Given the description of an element on the screen output the (x, y) to click on. 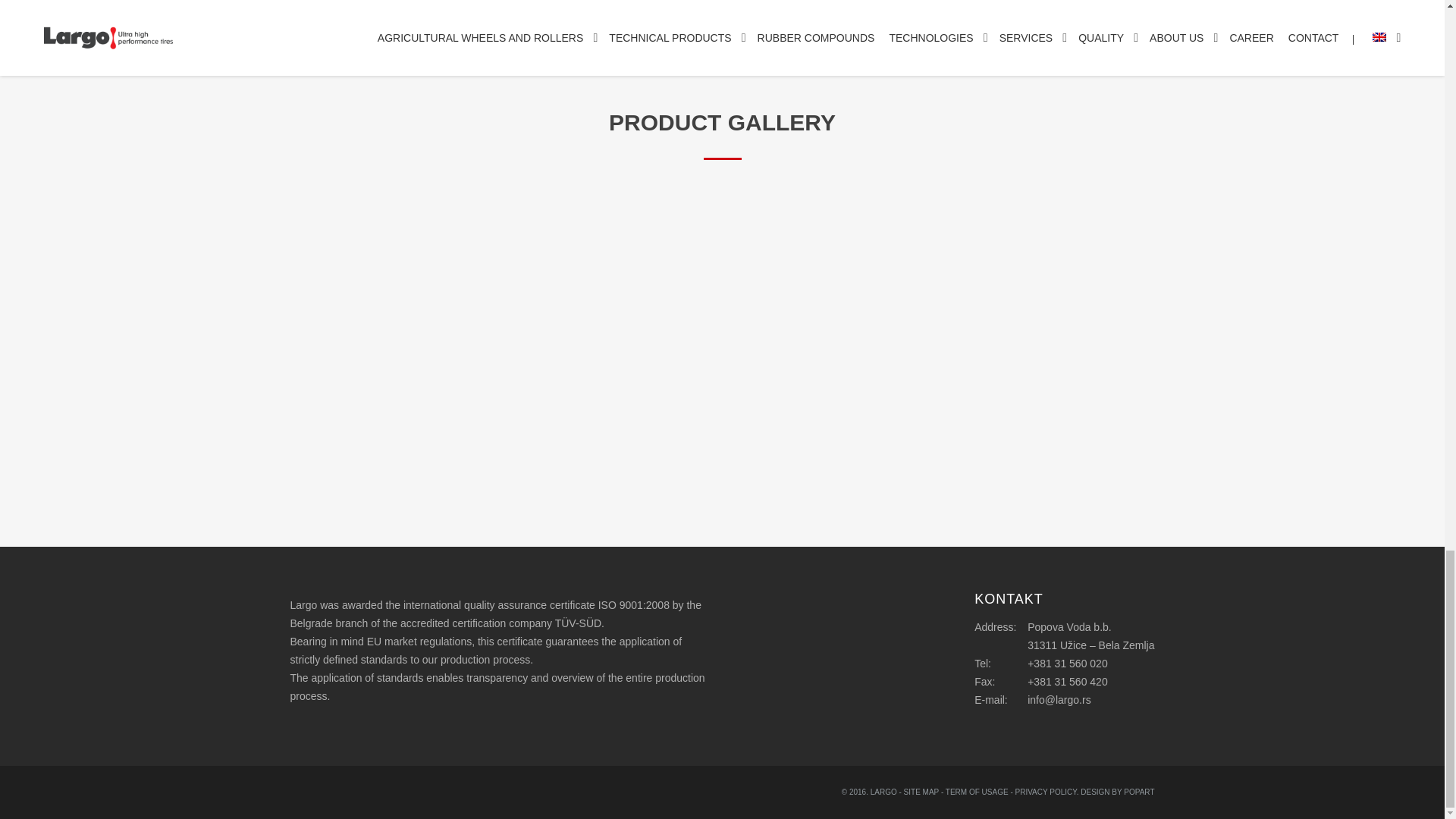
PopArt Studio (1139, 791)
PopArt Studio Design (1094, 791)
